Given the description of an element on the screen output the (x, y) to click on. 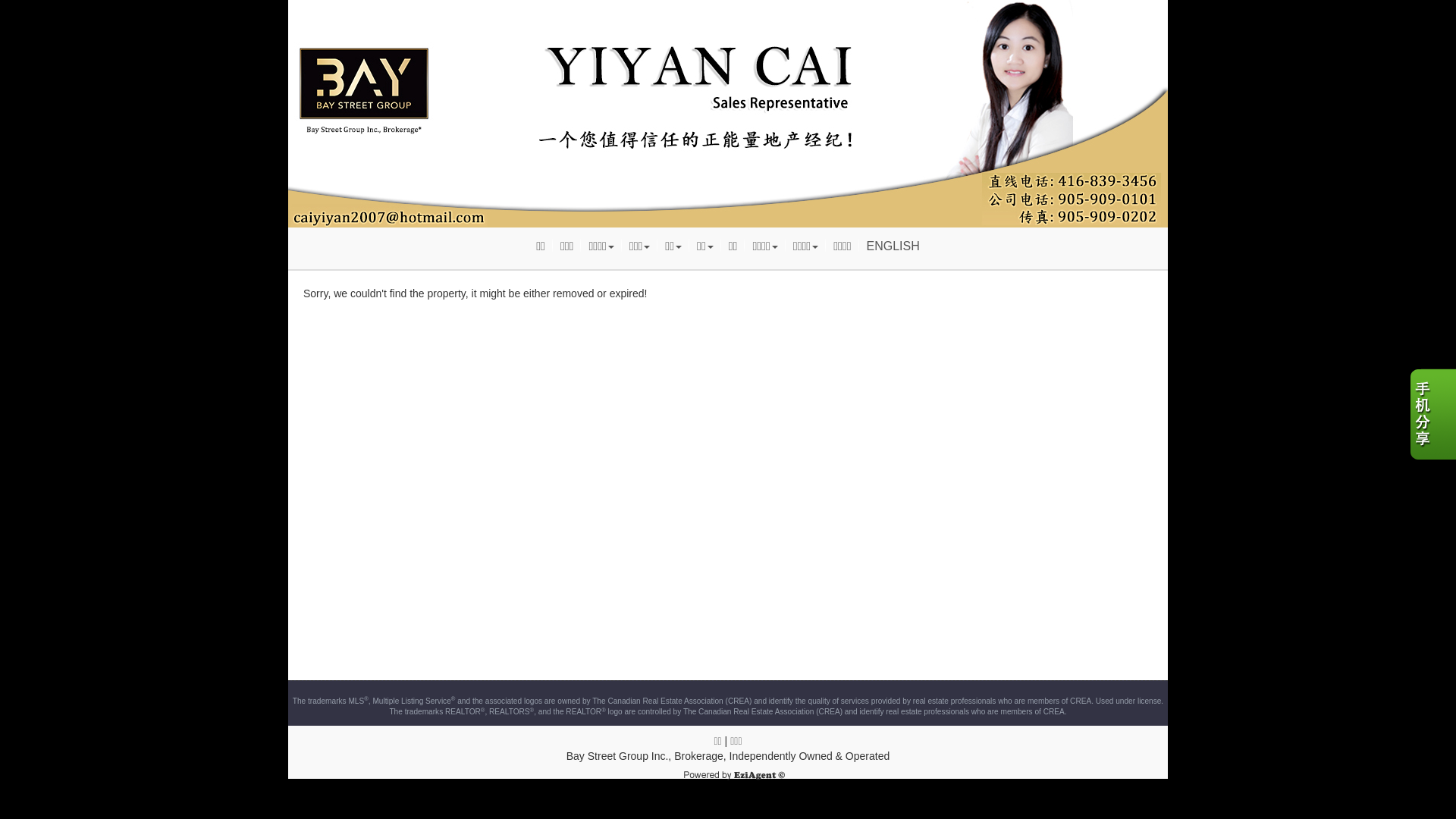
ENGLISH Element type: text (893, 246)
